Given the description of an element on the screen output the (x, y) to click on. 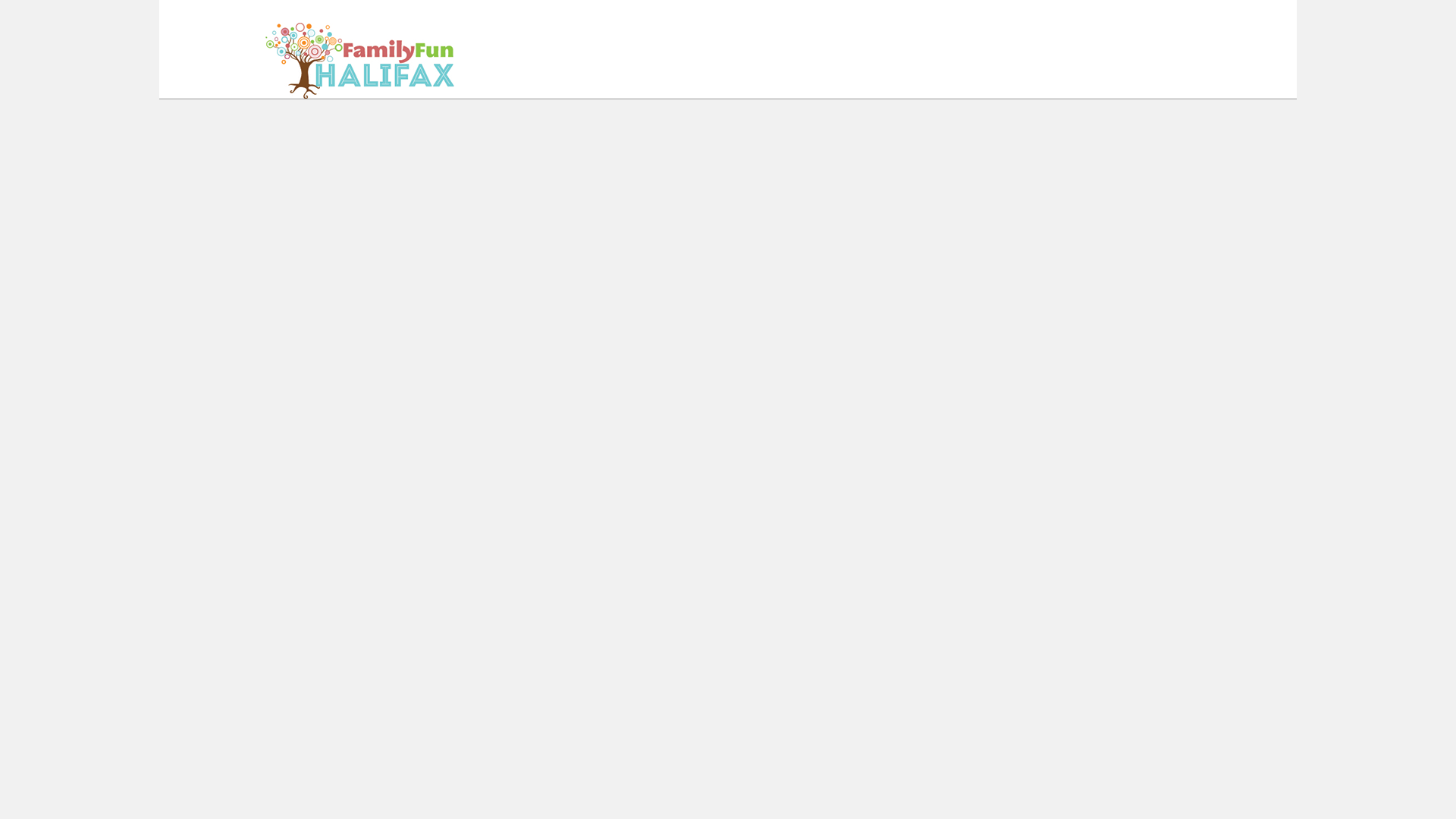
Back Home (431, 60)
